Given the description of an element on the screen output the (x, y) to click on. 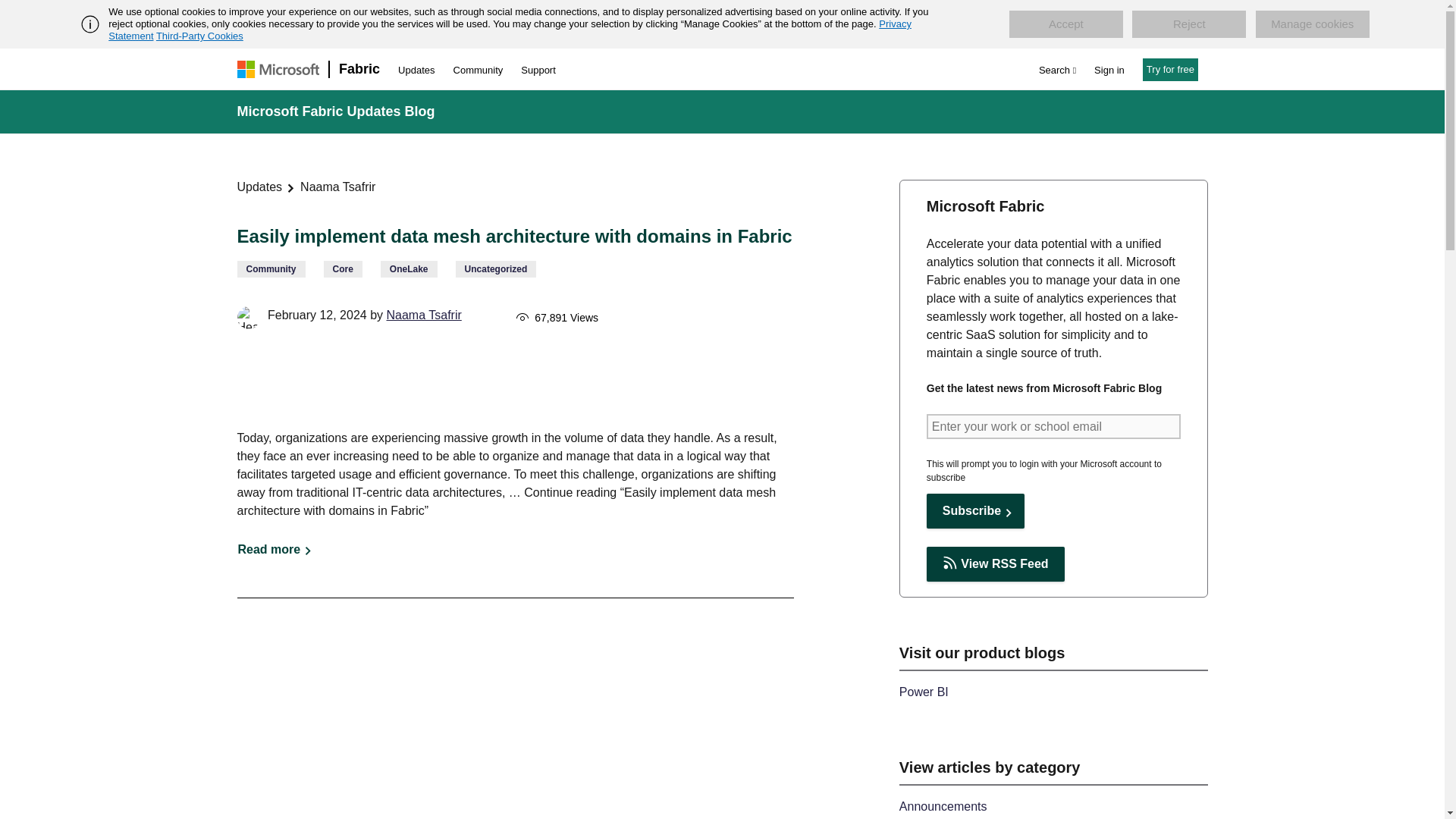
Updates (258, 186)
View RSS Feed (995, 564)
Uncategorized (496, 269)
Manage cookies (1312, 23)
Subscribe (975, 510)
Community (478, 70)
Accept (1065, 23)
Core (342, 269)
Privacy Statement (509, 29)
